Given the description of an element on the screen output the (x, y) to click on. 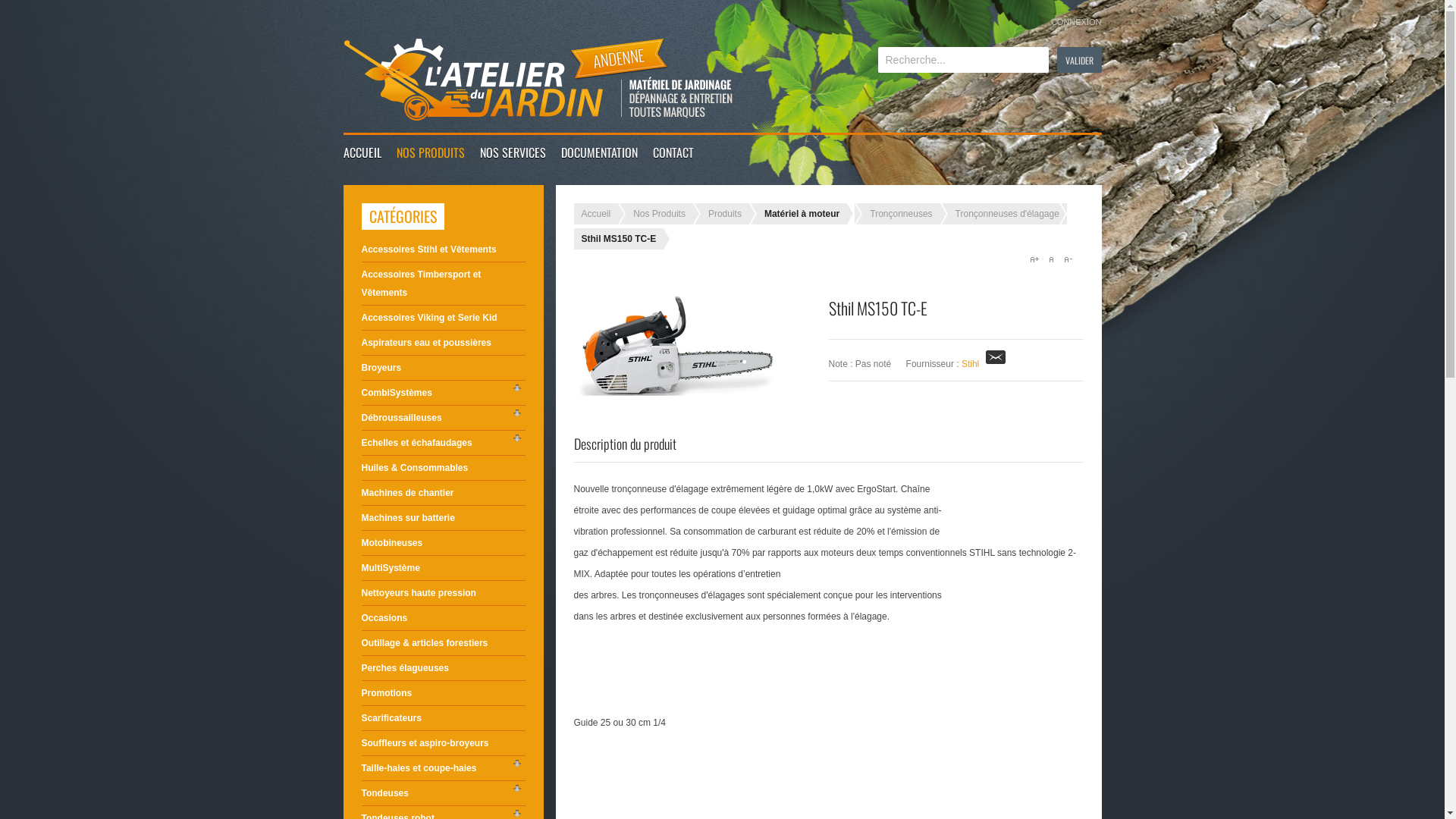
Accueil Element type: text (595, 213)
Taille-haies et coupe-haies Element type: text (442, 768)
NOS SERVICES Element type: text (512, 151)
Valider Element type: text (1079, 59)
Machines sur batterie Element type: text (442, 517)
Nos Produits Element type: text (659, 213)
Motobineuses Element type: text (442, 542)
E-mail Element type: hover (995, 363)
Accessoires Viking et Serie Kid Element type: text (442, 317)
Nettoyeurs haute pression Element type: text (442, 592)
Scarificateurs Element type: text (442, 718)
Promotions Element type: text (442, 692)
Stihl Element type: text (970, 363)
Produits Element type: text (724, 213)
Broyeurs Element type: text (442, 367)
Souffleurs et aspiro-broyeurs Element type: text (442, 743)
Huiles & Consommables Element type: text (442, 467)
Tondeuses Element type: text (442, 793)
DOCUMENTATION Element type: text (599, 151)
Machines de chantier Element type: text (442, 492)
A+ Element type: text (1033, 259)
NOS PRODUITS Element type: text (429, 151)
Outillage & articles forestiers Element type: text (442, 642)
A- Element type: text (1066, 259)
CONNEXION Element type: text (1076, 21)
ACCUEIL Element type: text (361, 151)
A Element type: text (1049, 259)
L'Atelier du Jardin | Andenne Element type: text (537, 79)
Connexion Element type: text (601, 297)
Occasions Element type: text (442, 617)
CONTACT Element type: text (672, 151)
